Given the description of an element on the screen output the (x, y) to click on. 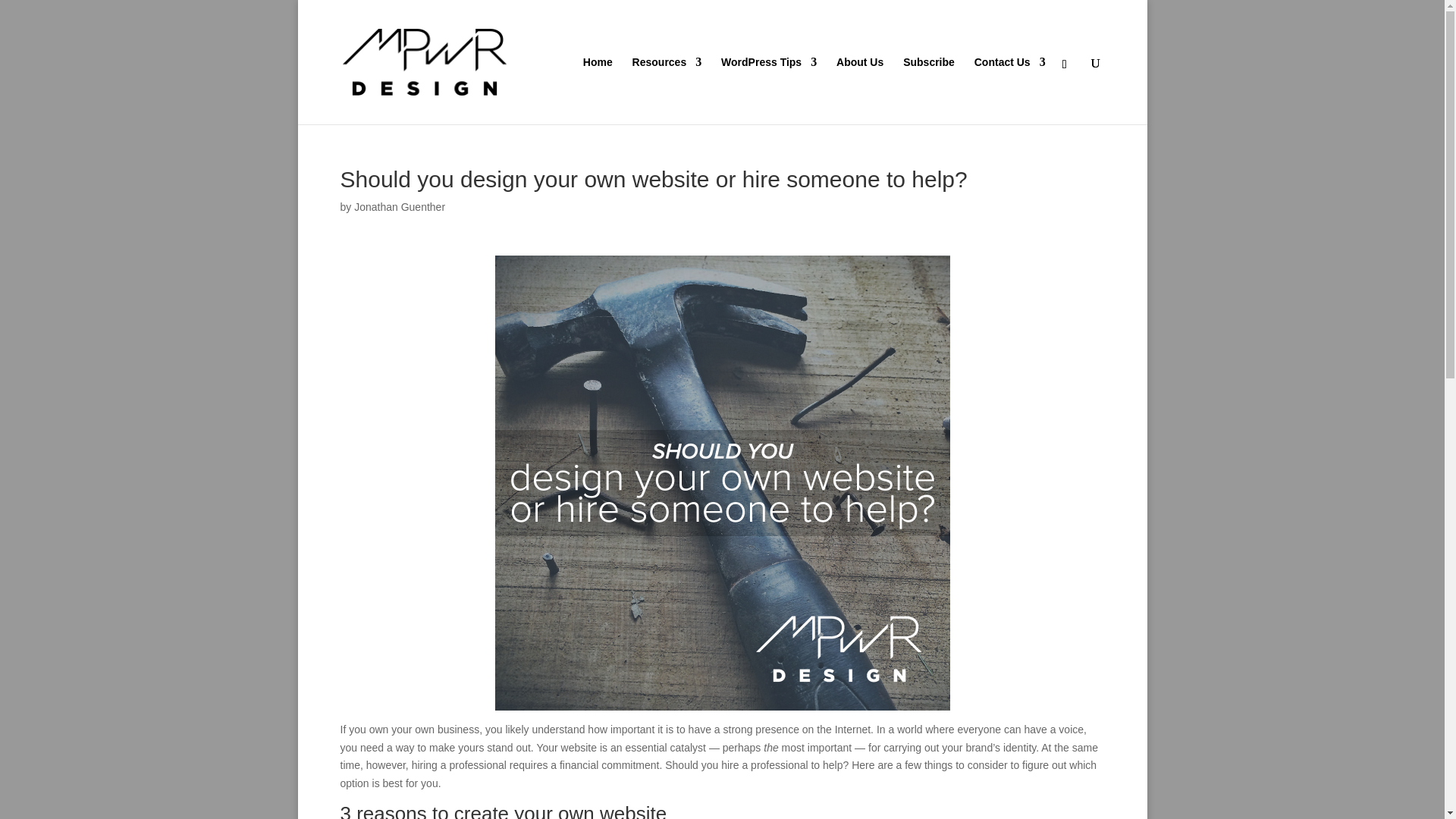
WordPress Tips (768, 90)
Resources (666, 90)
Posts by Jonathan Guenther (399, 206)
Jonathan Guenther (399, 206)
Contact Us (1009, 90)
